Given the description of an element on the screen output the (x, y) to click on. 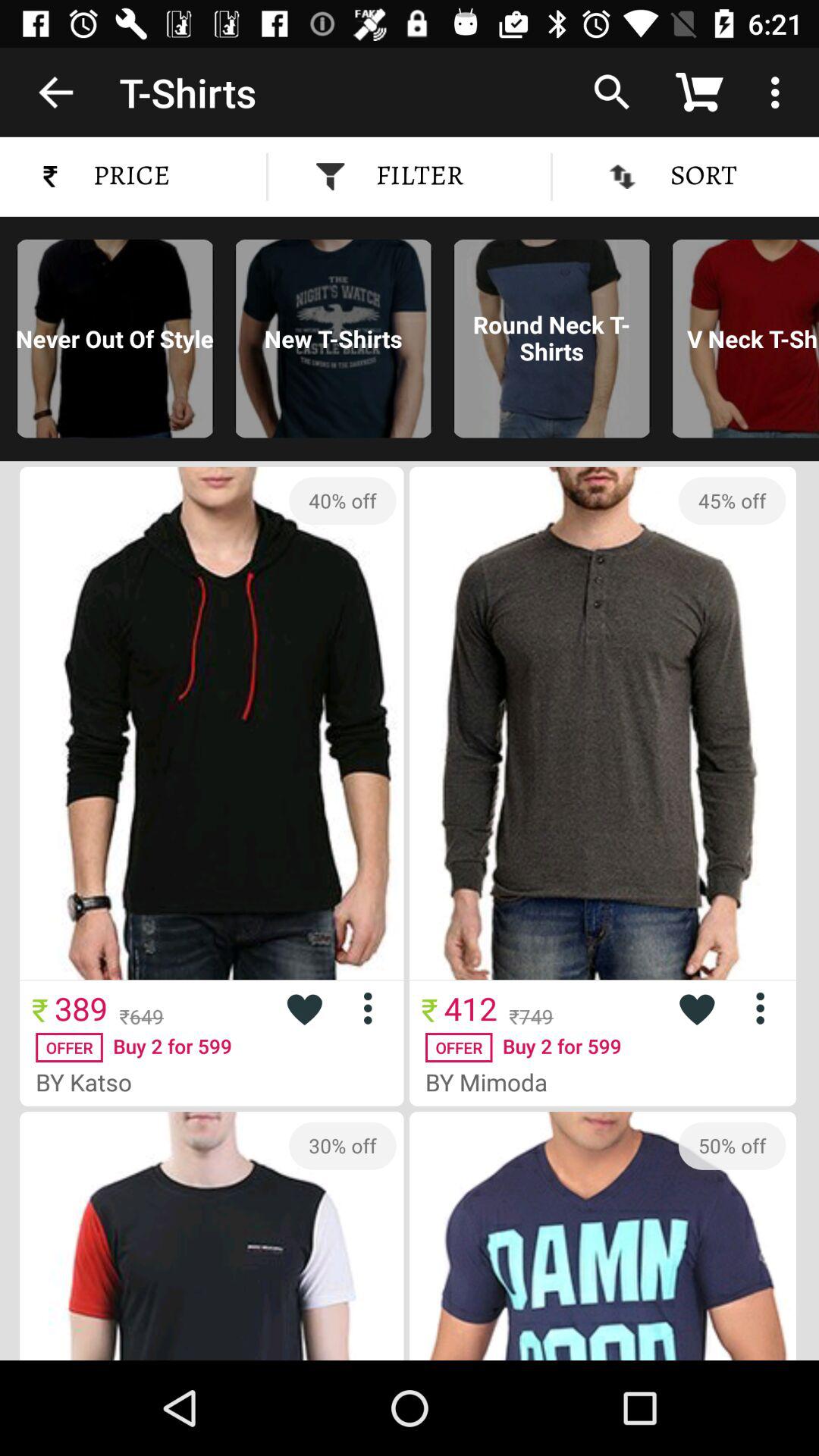
click item above the price item (55, 92)
